Given the description of an element on the screen output the (x, y) to click on. 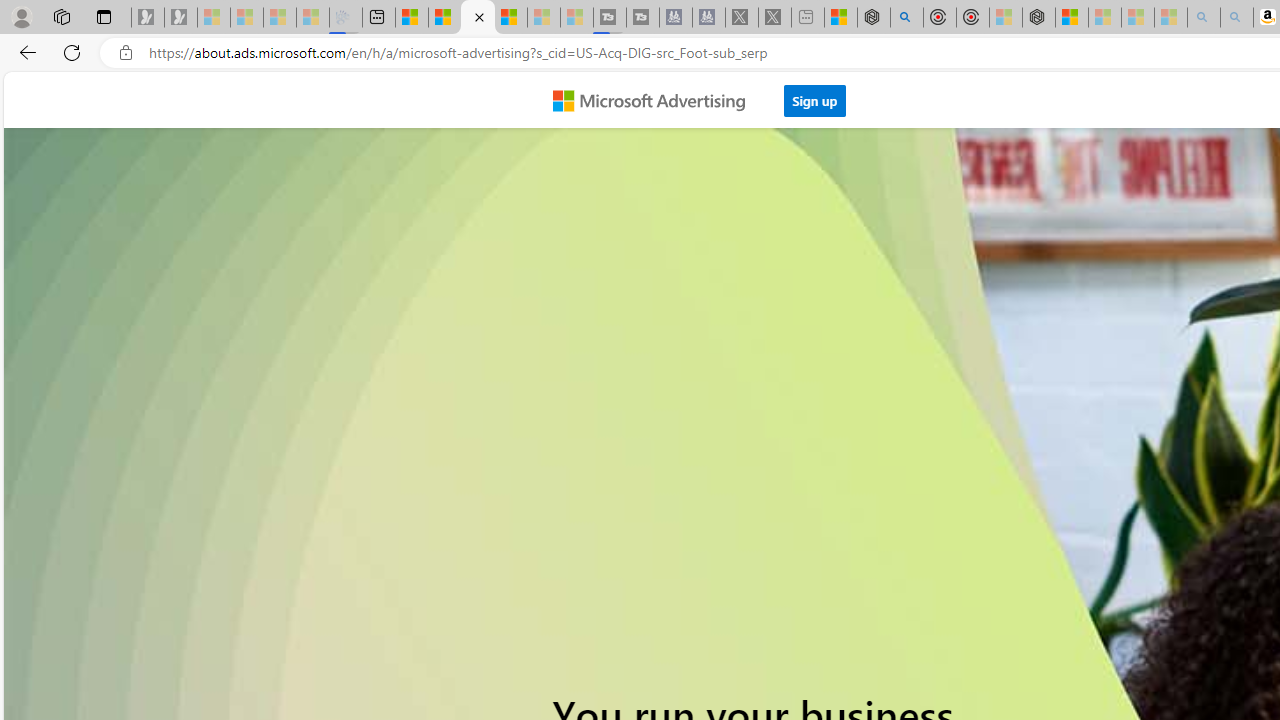
Wildlife - MSN (841, 17)
Sign up (815, 95)
X - Sleeping (775, 17)
amazon - Search - Sleeping (1203, 17)
Microsoft Start - Sleeping (543, 17)
New tab - Sleeping (808, 17)
